Given the description of an element on the screen output the (x, y) to click on. 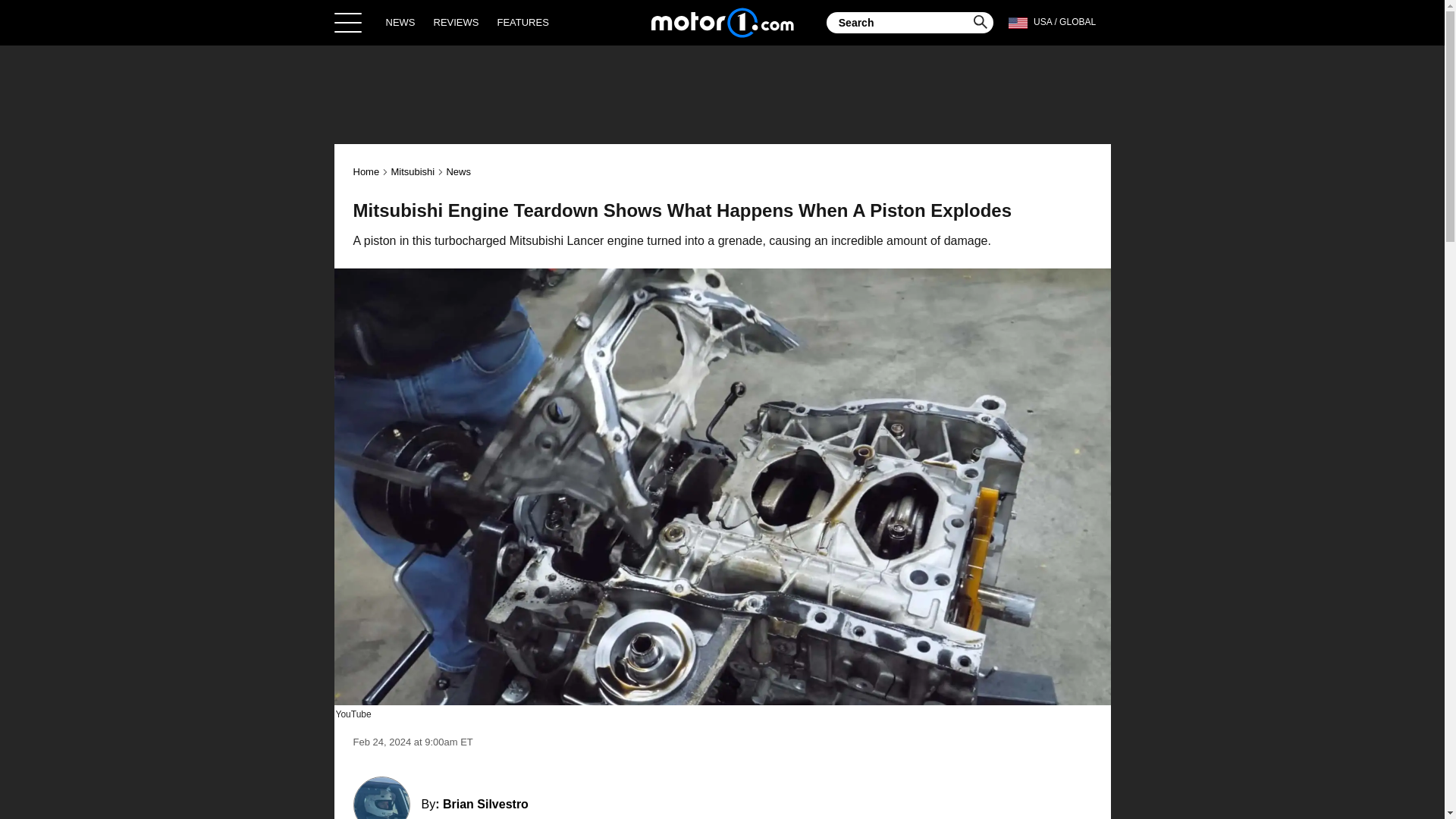
News (457, 171)
Mitsubishi (411, 171)
Home (721, 22)
NEWS (399, 22)
Home (366, 171)
FEATURES (522, 22)
REVIEWS (456, 22)
Brian Silvestro (485, 803)
